Given the description of an element on the screen output the (x, y) to click on. 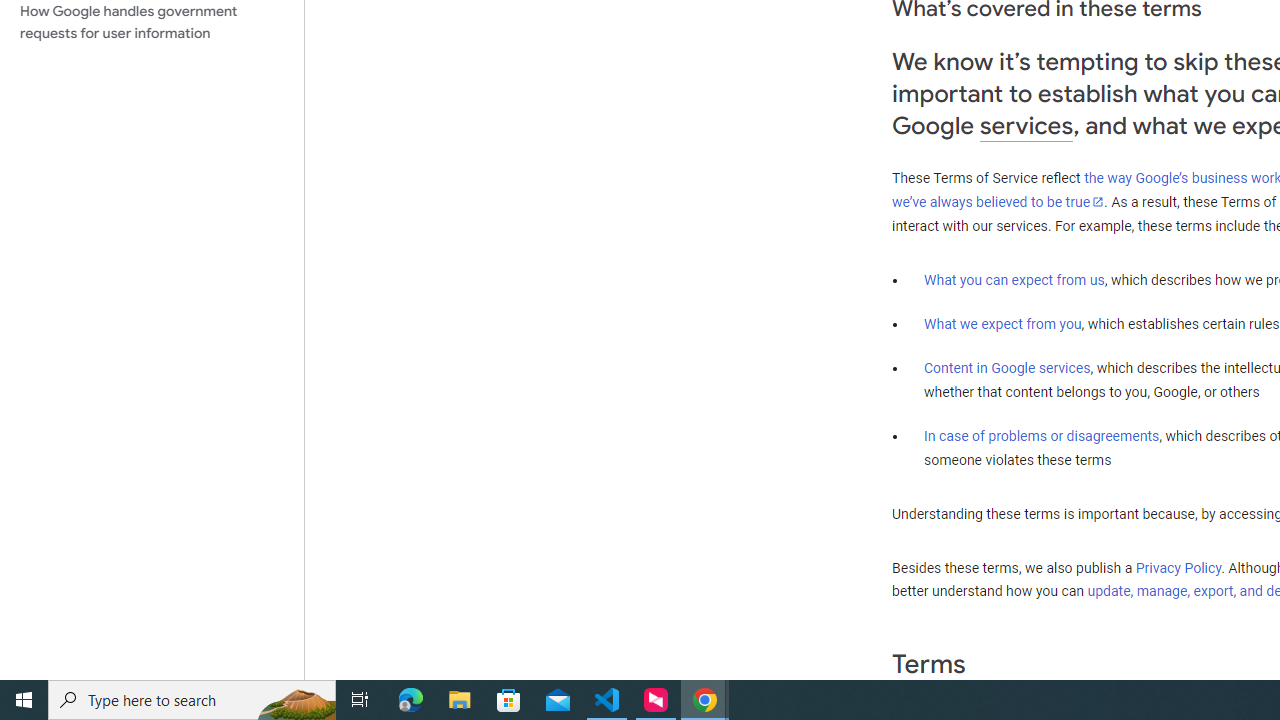
What you can expect from us (1014, 279)
What we expect from you (1002, 323)
services (1026, 125)
Content in Google services (1007, 368)
In case of problems or disagreements (1041, 435)
